Given the description of an element on the screen output the (x, y) to click on. 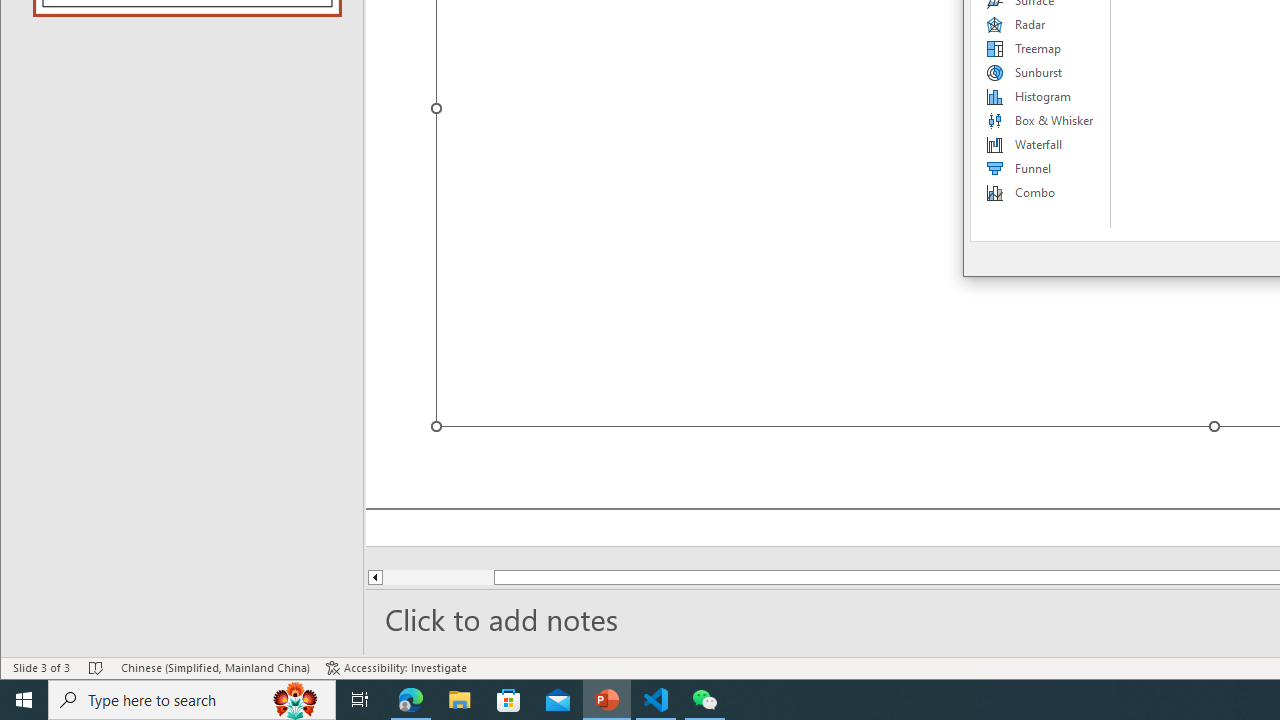
Type here to search (191, 699)
Funnel (1041, 168)
Combo (1041, 192)
Search highlights icon opens search home window (295, 699)
Treemap (1041, 48)
Task View (359, 699)
Microsoft Edge - 1 running window (411, 699)
PowerPoint - 1 running window (607, 699)
WeChat - 1 running window (704, 699)
Radar (1041, 24)
Sunburst (1041, 72)
